Given the description of an element on the screen output the (x, y) to click on. 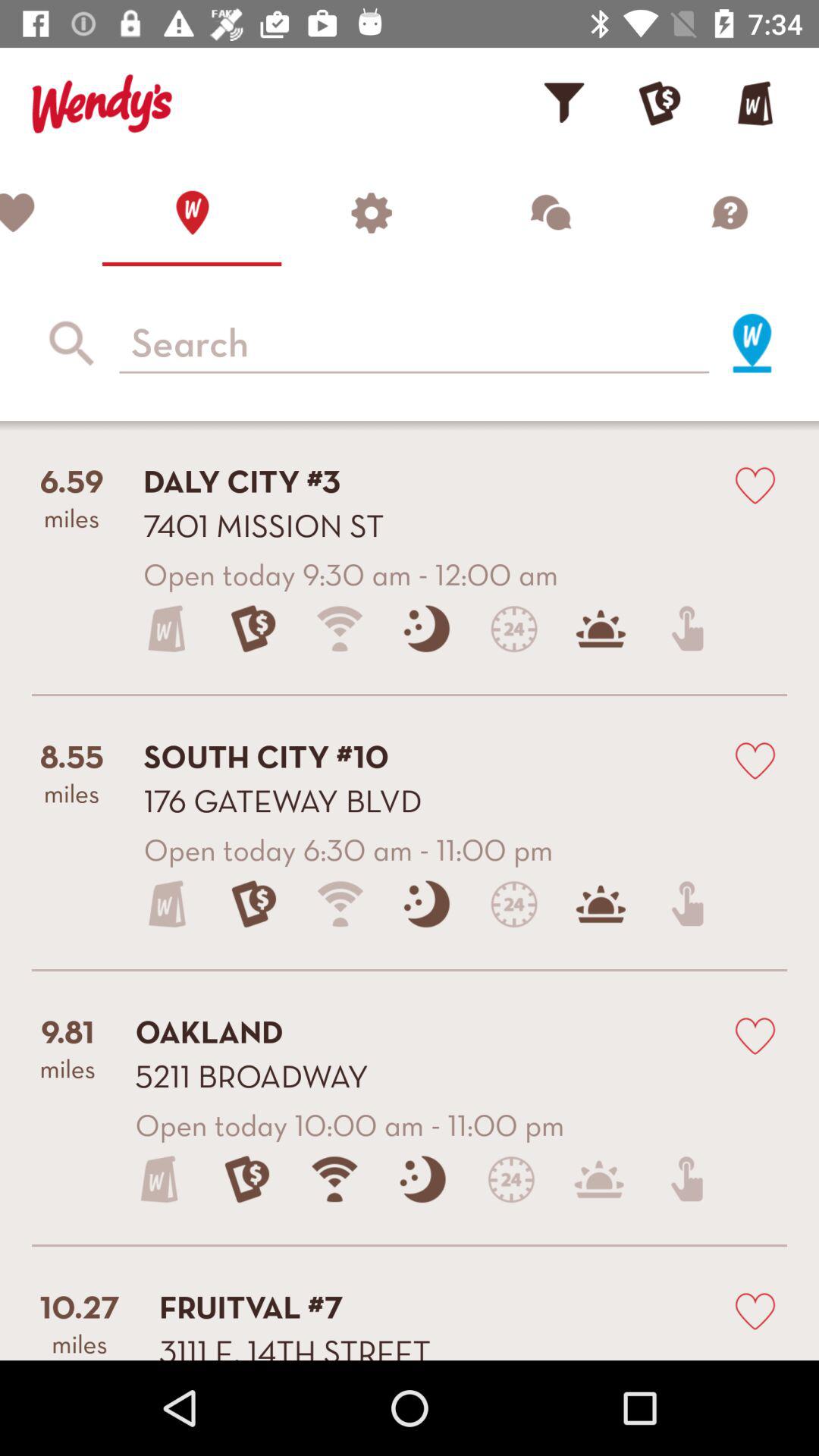
mark as favourite (755, 759)
